Given the description of an element on the screen output the (x, y) to click on. 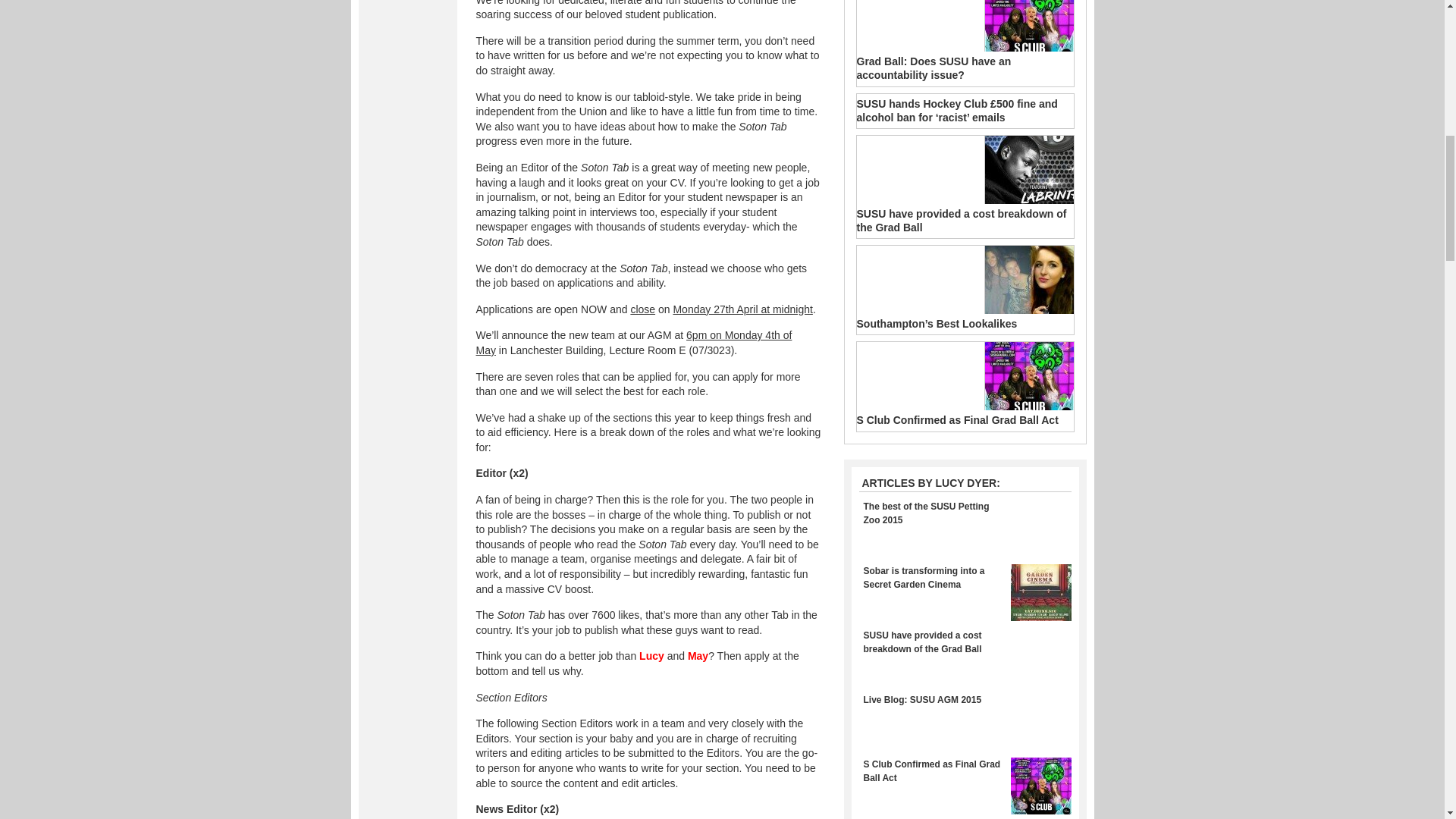
Live Blog: SUSU AGM 2015 (966, 699)
May (697, 655)
The best of the SUSU Petting Zoo 2015 (966, 513)
Lucy (651, 655)
Sobar is transforming into a Secret Garden Cinema (966, 577)
S Club Confirmed as Final Grad Ball Act (966, 770)
SUSU have provided a cost breakdown of the Grad Ball (966, 642)
Posts by Lucy Dyer (928, 482)
